Given the description of an element on the screen output the (x, y) to click on. 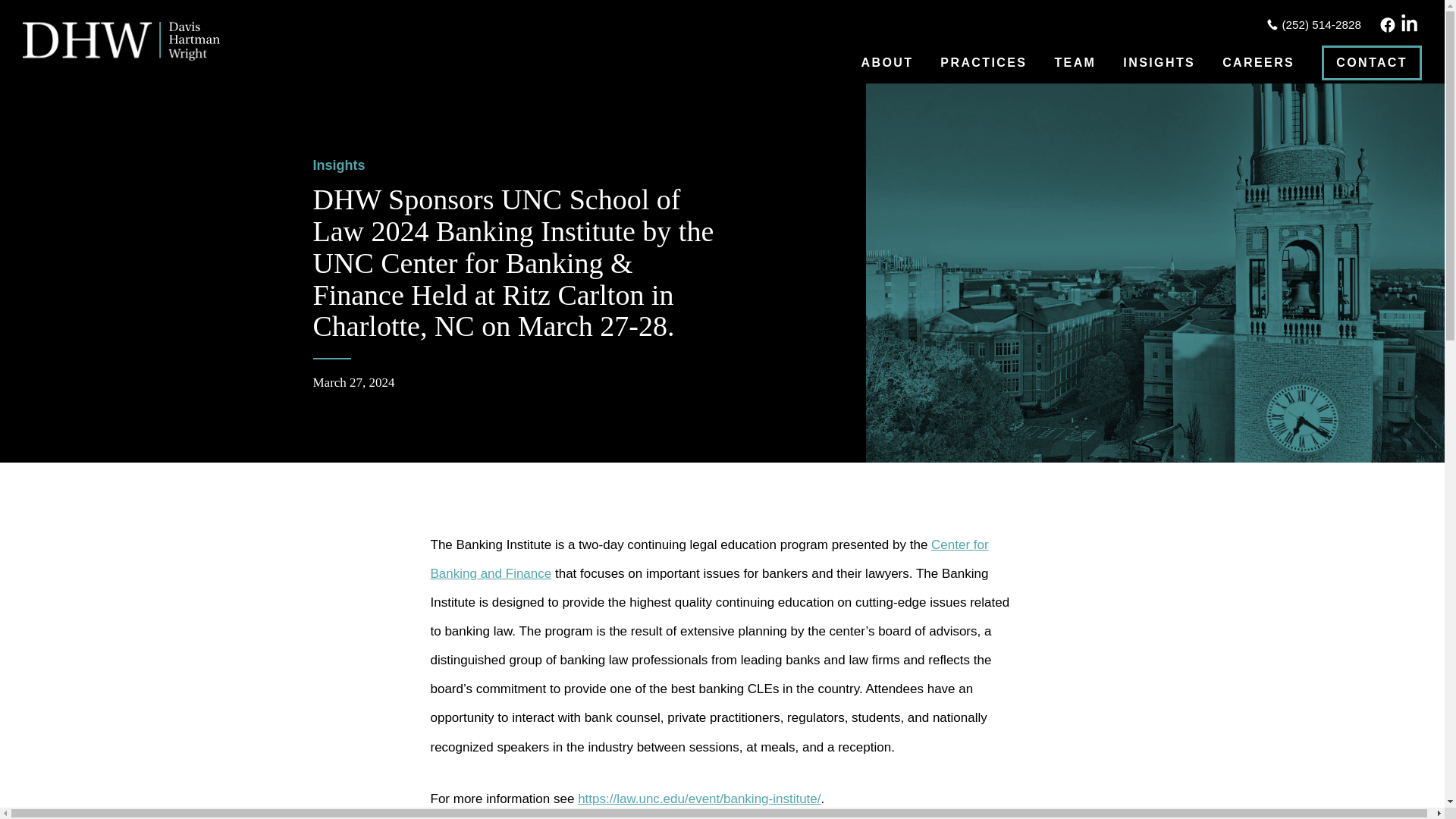
PRACTICES (983, 62)
INSIGHTS (1158, 62)
CAREERS (1258, 62)
Center for Banking and Finance (709, 558)
ABOUT (886, 62)
CONTACT (1372, 62)
homepage (121, 41)
TEAM (1075, 62)
